Given the description of an element on the screen output the (x, y) to click on. 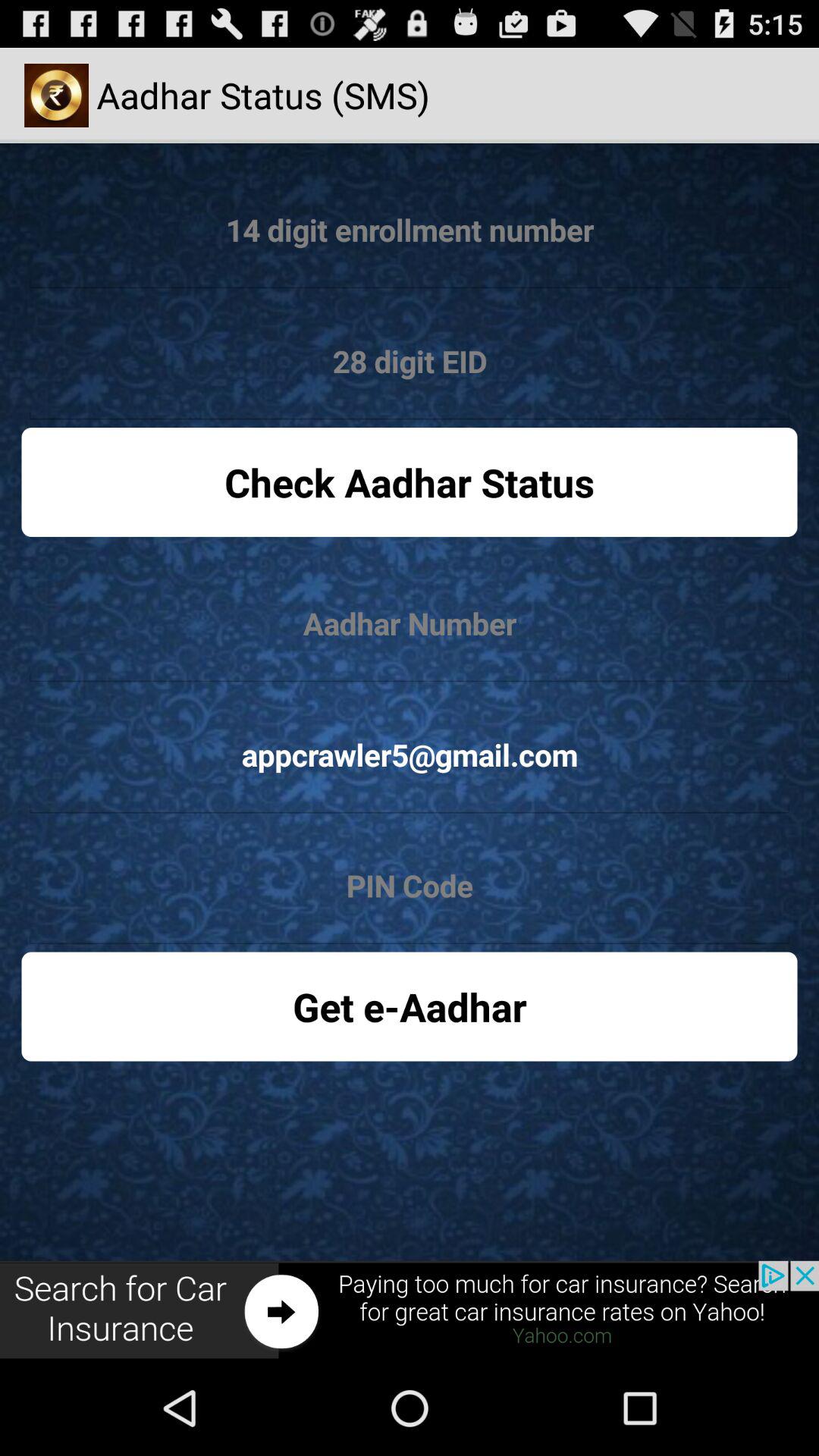
enter pin code (409, 886)
